Given the description of an element on the screen output the (x, y) to click on. 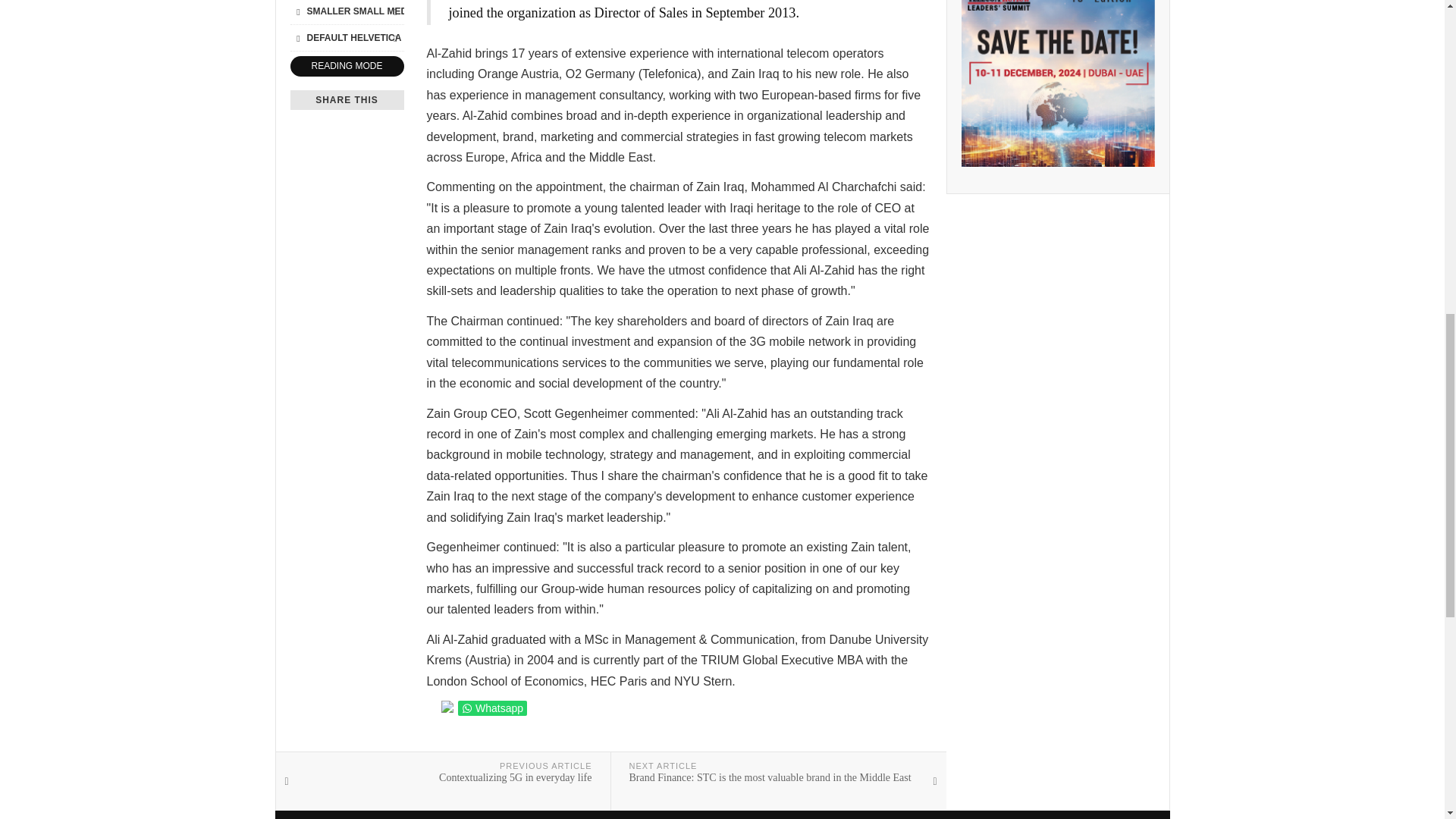
Reading Mode (346, 66)
Previous Font Style (297, 37)
Next Font Style (395, 37)
2024 03 TRS WB (1057, 83)
Smaller Font (297, 11)
Bigger Font (395, 11)
